Given the description of an element on the screen output the (x, y) to click on. 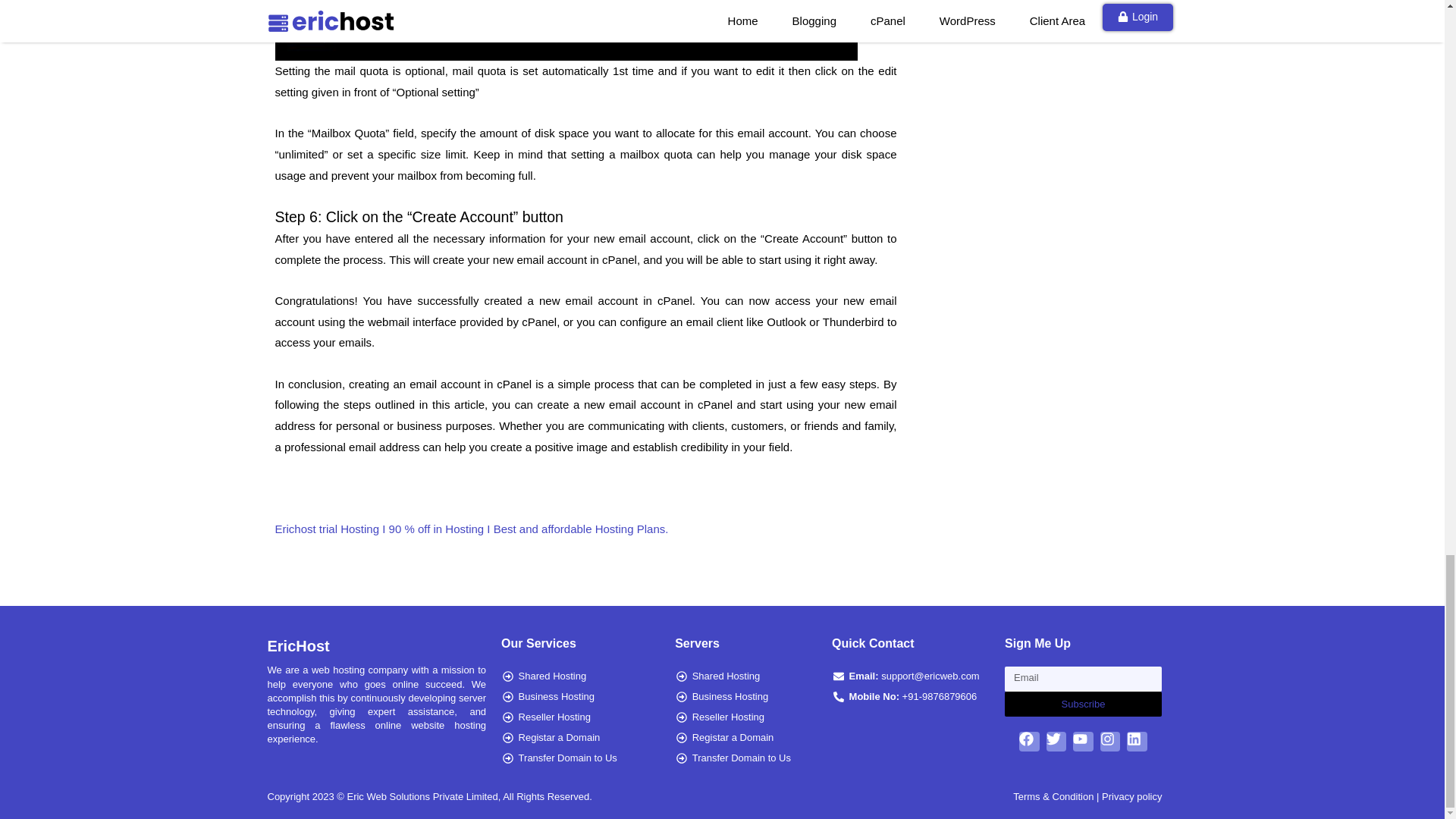
Twitter (1056, 742)
Subscribe (1082, 703)
Facebook (1029, 742)
Instagram (1110, 742)
Linkedin (1136, 742)
Youtube (1083, 742)
